Given the description of an element on the screen output the (x, y) to click on. 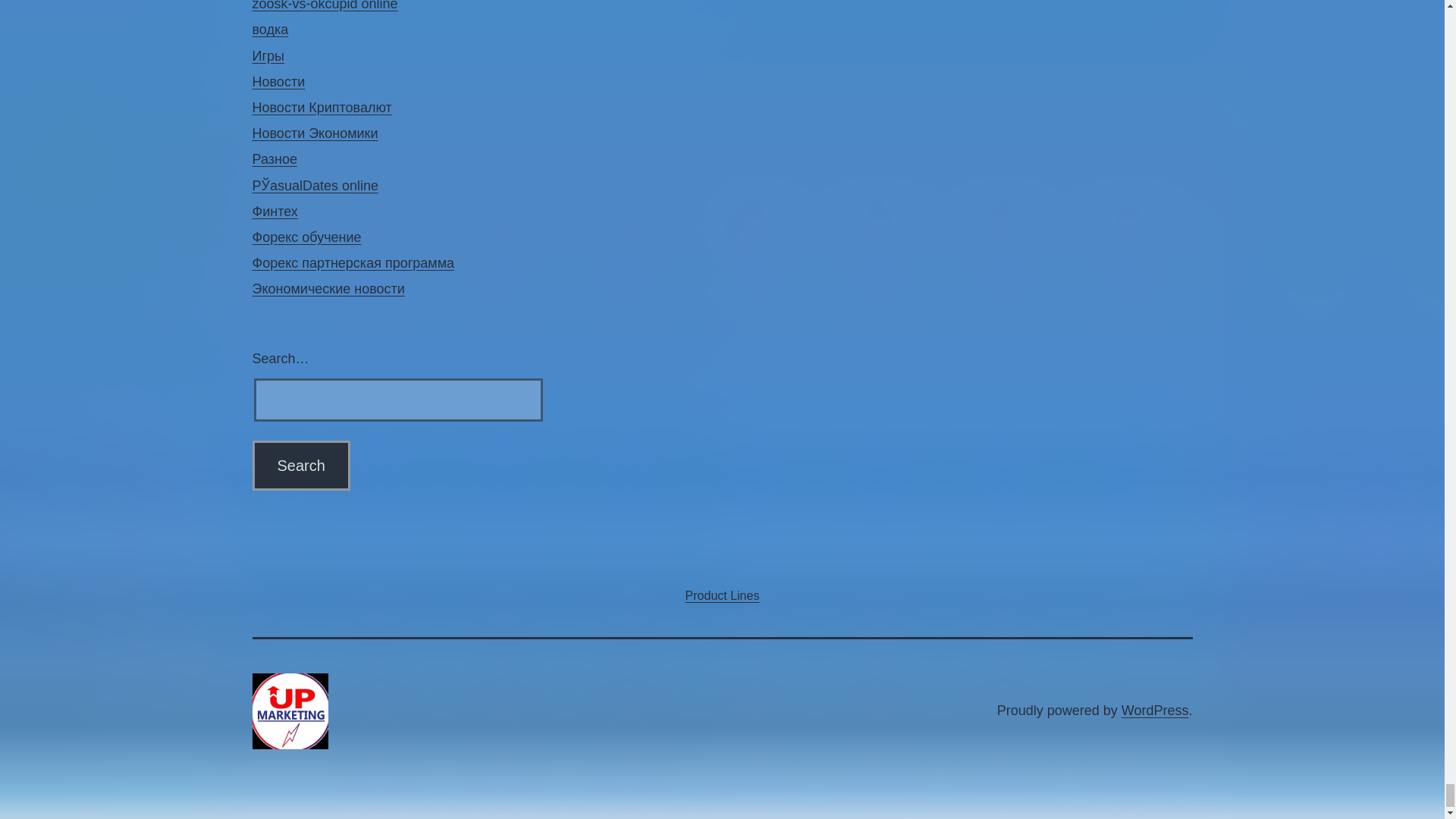
Search (300, 465)
Search (300, 465)
